Given the description of an element on the screen output the (x, y) to click on. 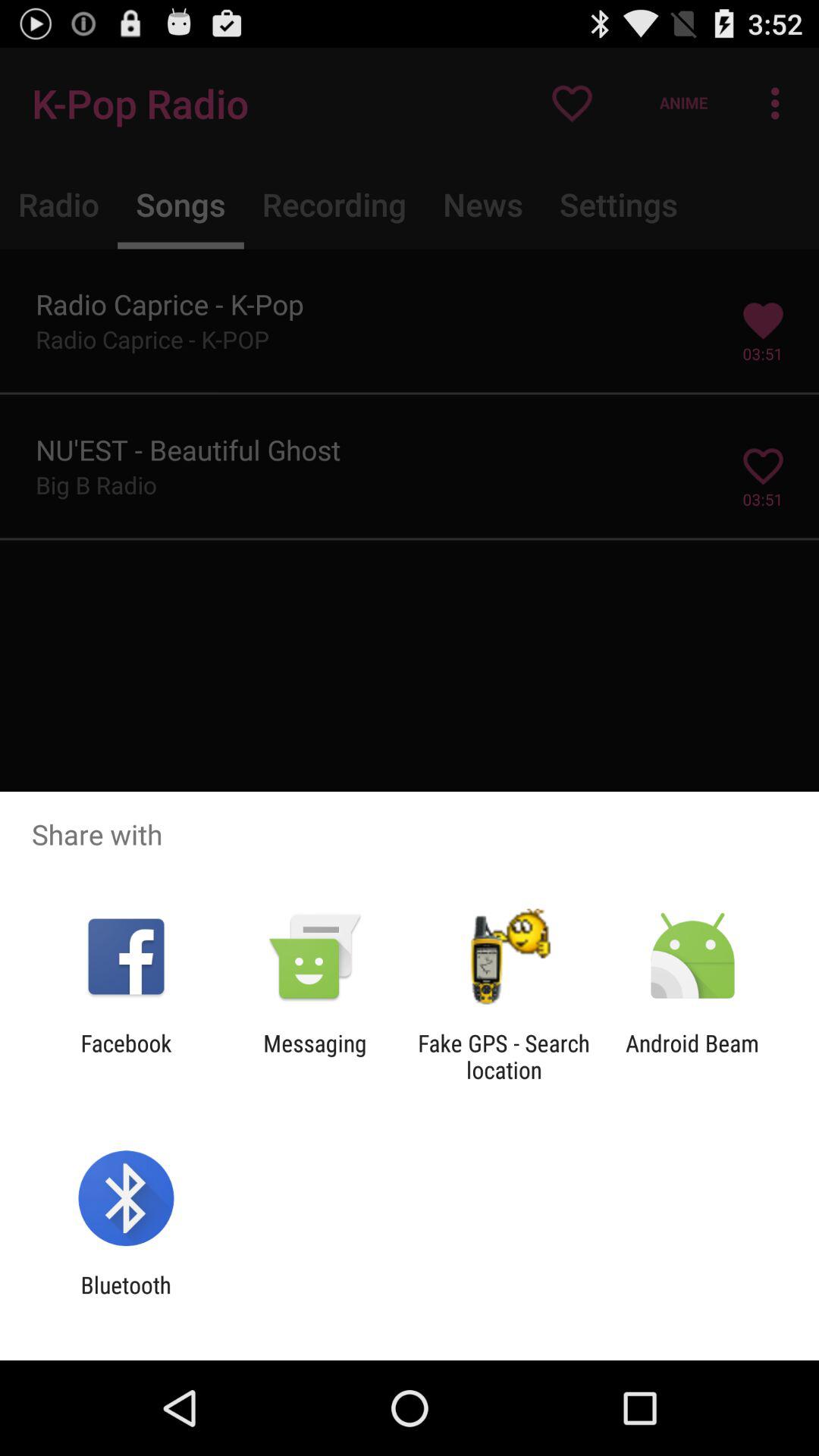
turn on the bluetooth icon (125, 1298)
